Given the description of an element on the screen output the (x, y) to click on. 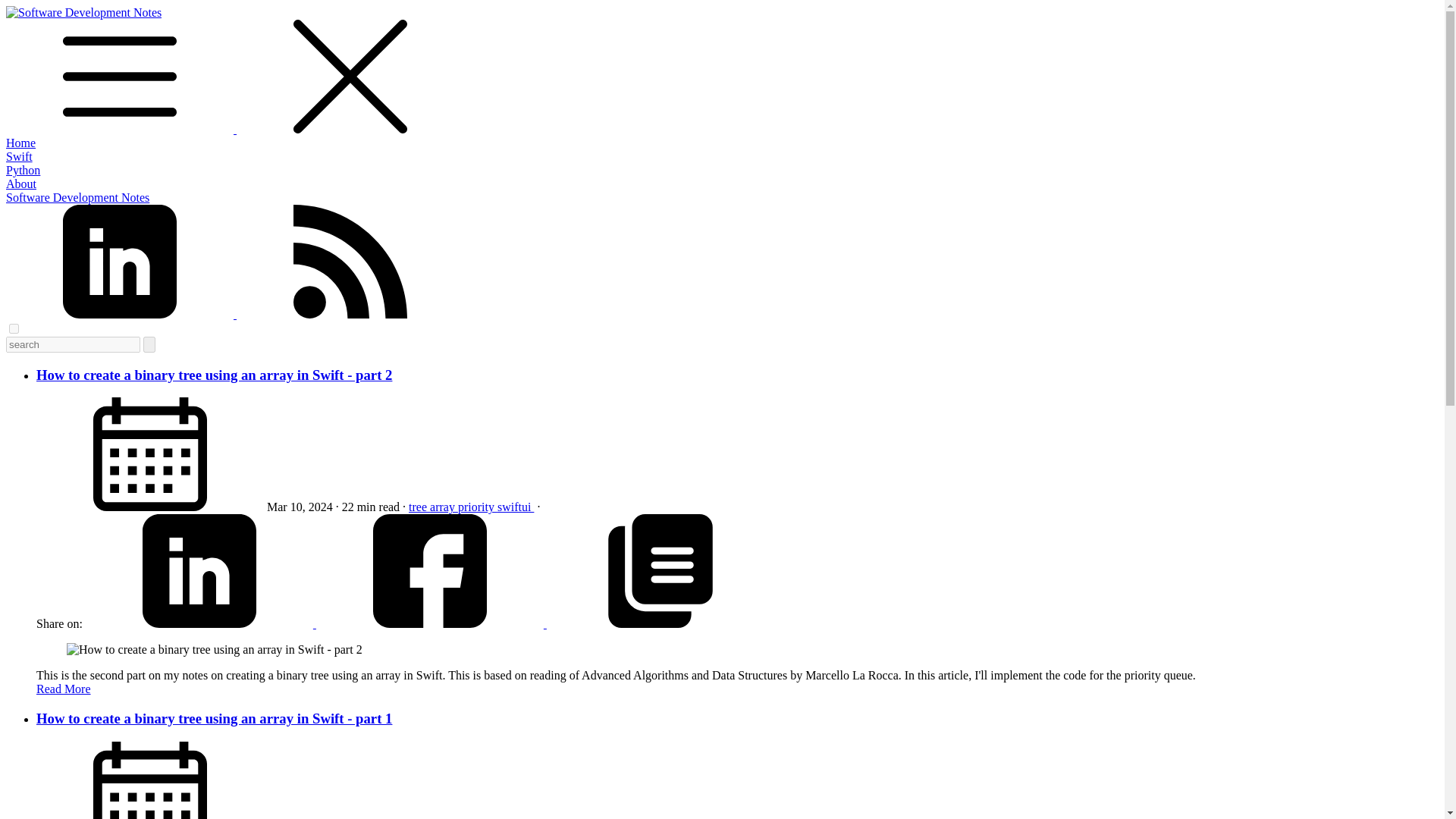
swiftui (515, 506)
linkedin (200, 623)
How to create a binary tree using an array in Swift - part 1 (213, 718)
tree (419, 506)
Software Development Notes (77, 196)
swiftui (515, 506)
Share on Facebook (431, 623)
array (443, 506)
How to create a binary tree using an array in Swift - part 2 (213, 374)
Home (19, 142)
facebook (431, 623)
priority (477, 506)
calendar (149, 454)
Python (22, 169)
Swift (18, 155)
